Given the description of an element on the screen output the (x, y) to click on. 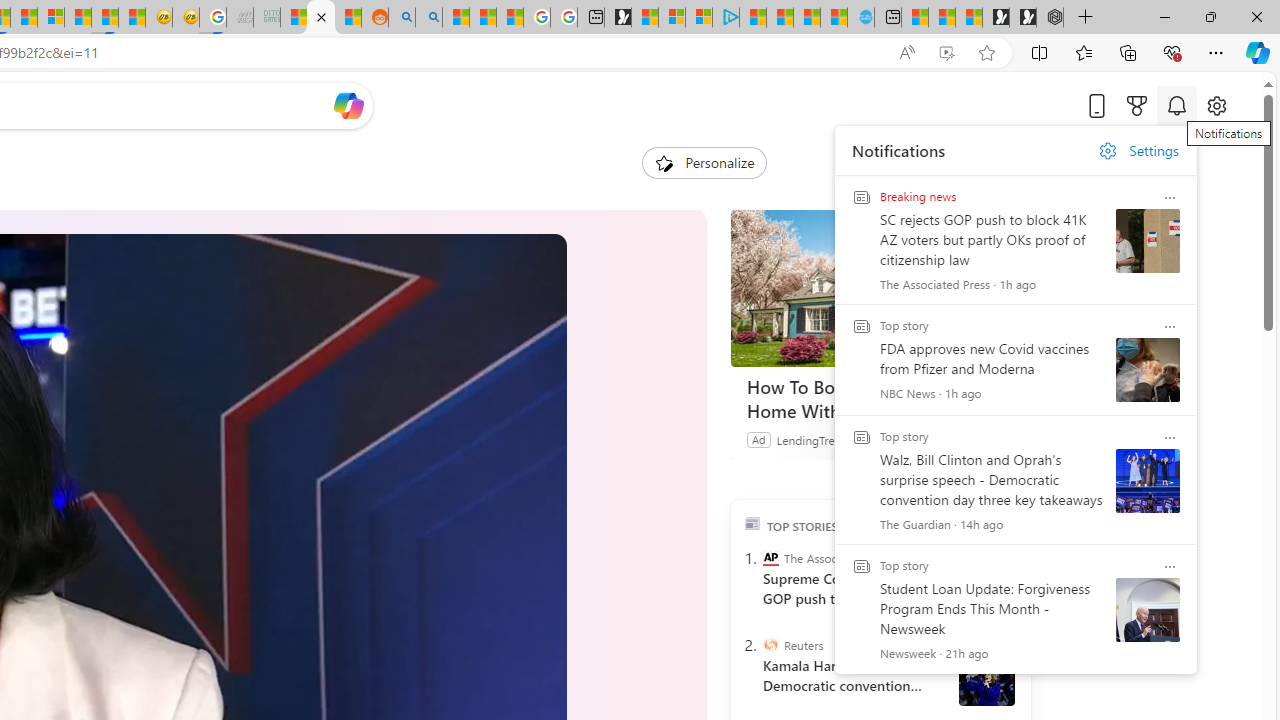
Reuters (770, 645)
Personalize (703, 162)
